Given the description of an element on the screen output the (x, y) to click on. 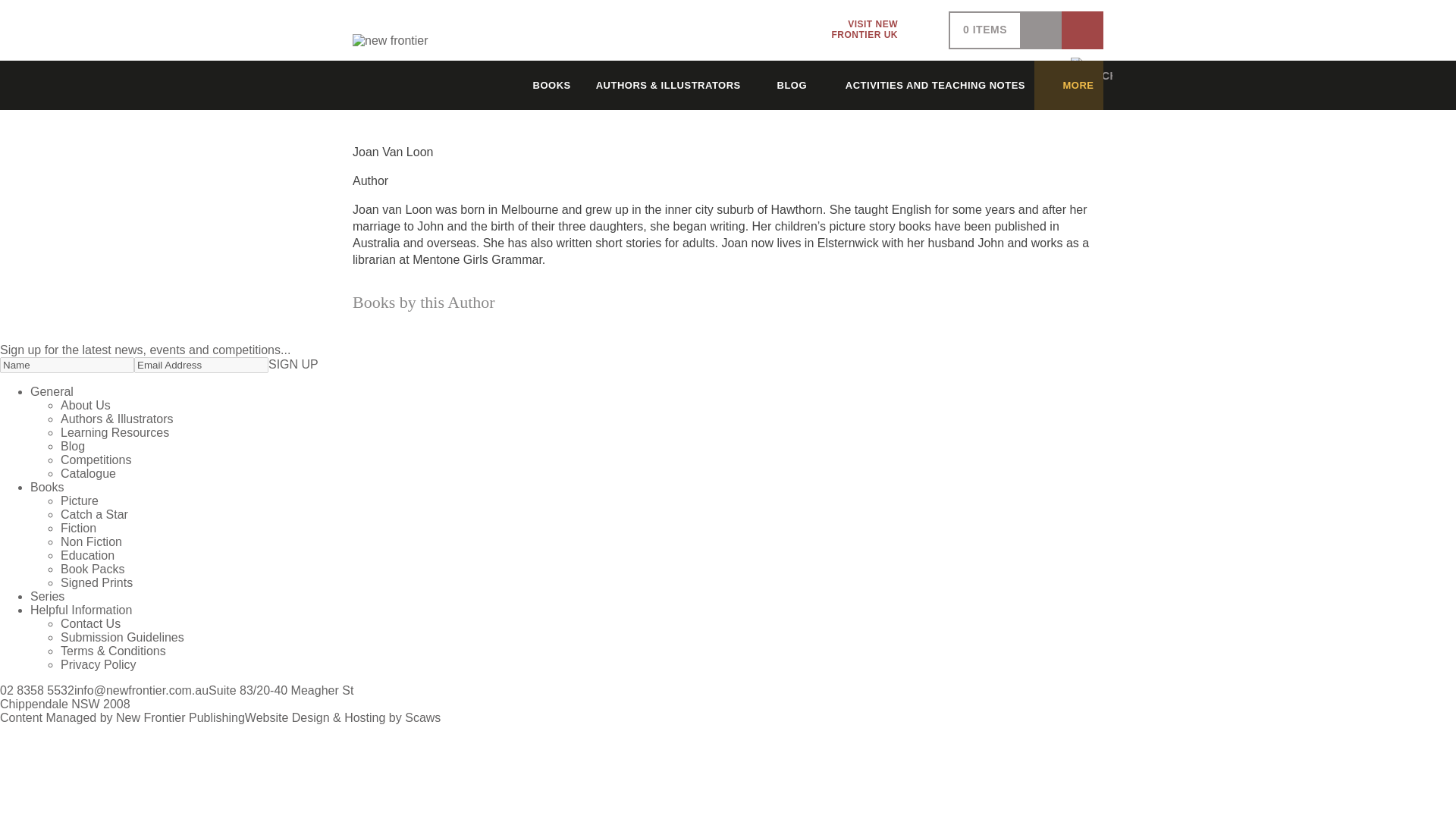
0 ITEMS (984, 29)
Name (66, 365)
ACTIVITIES AND TEACHING NOTES (877, 30)
BOOKS (925, 84)
Email Address (541, 84)
BLOG (200, 365)
